Given the description of an element on the screen output the (x, y) to click on. 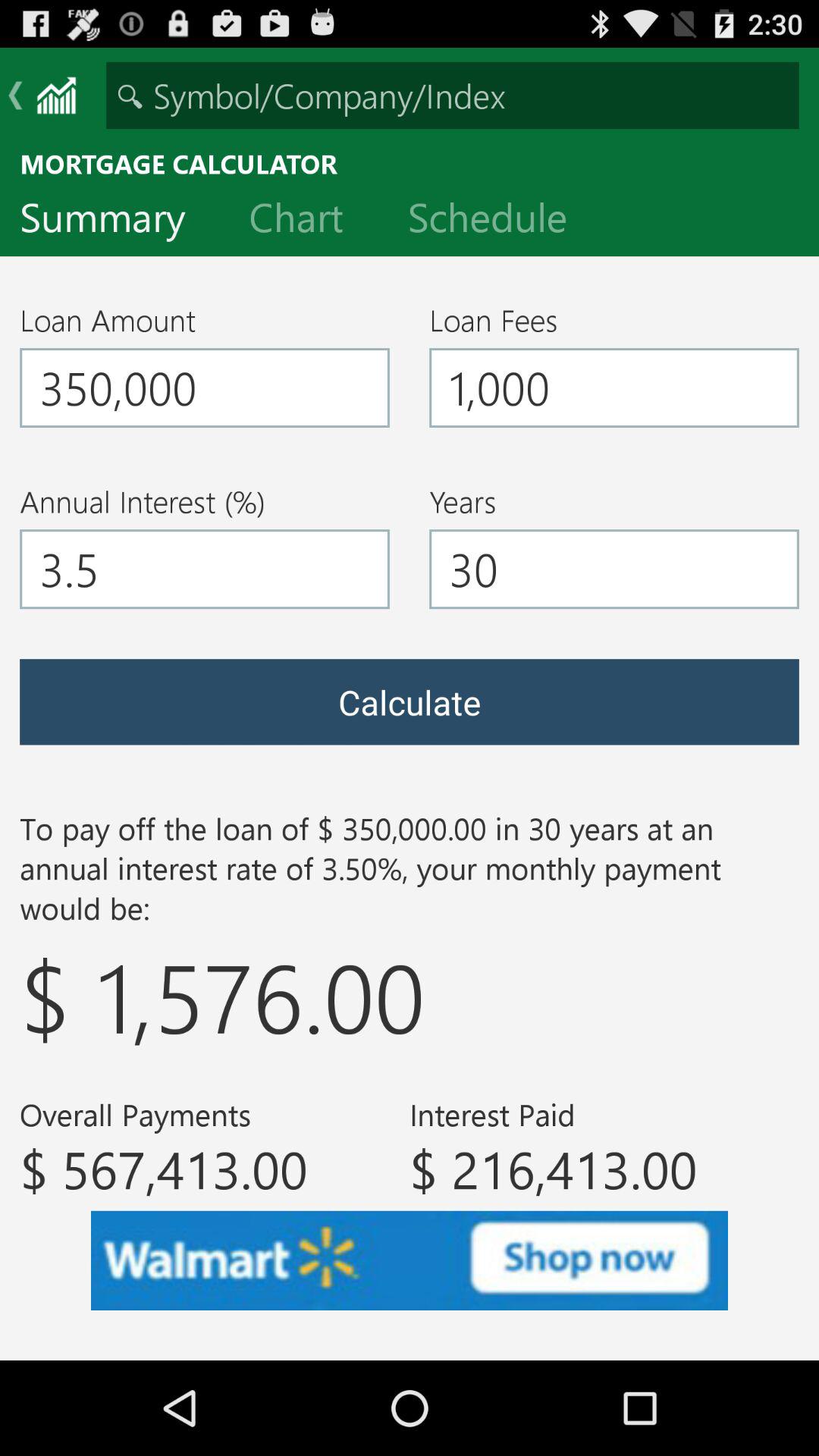
swipe to the summary (114, 220)
